Given the description of an element on the screen output the (x, y) to click on. 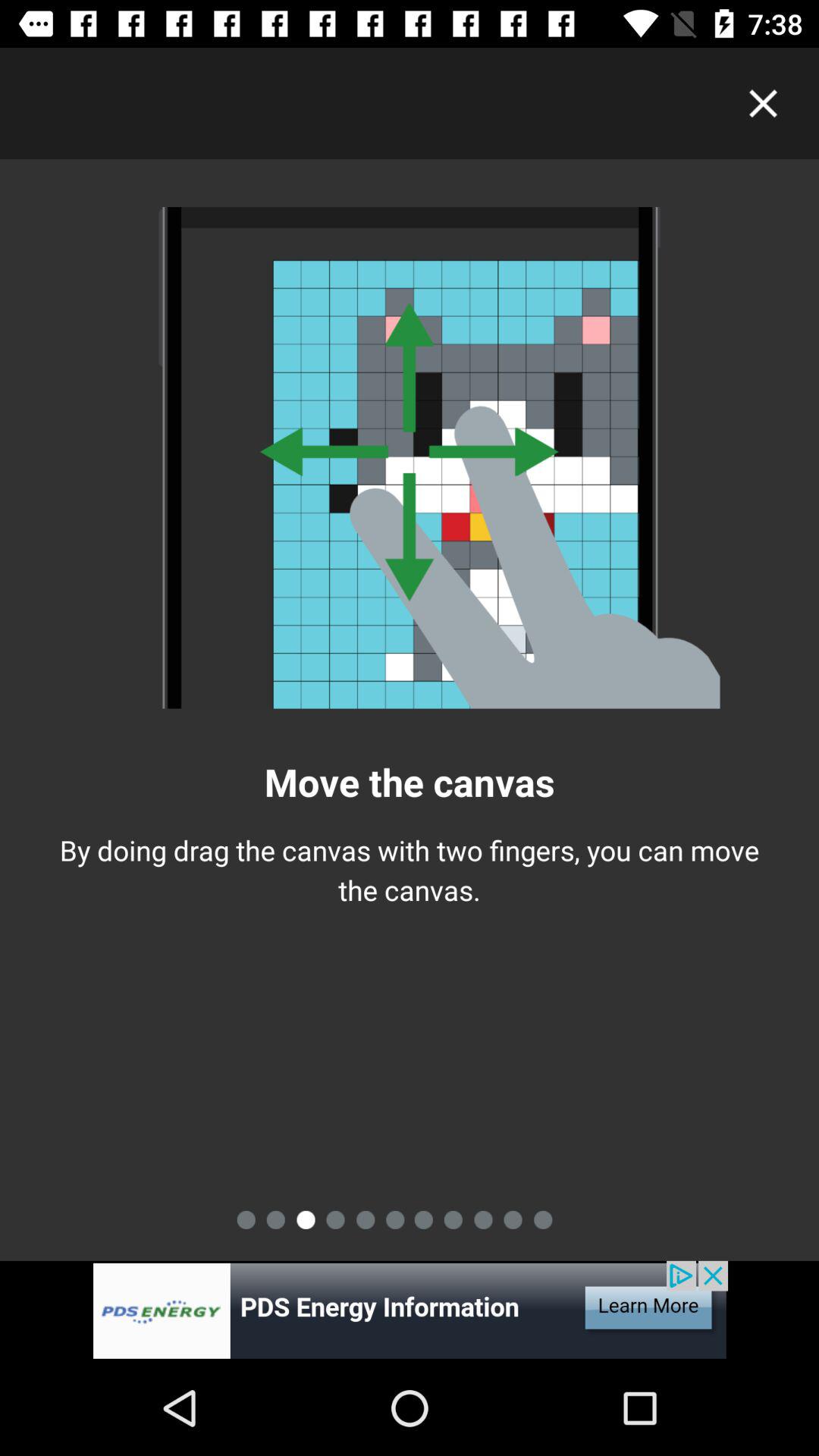
company add icon (409, 1310)
